Given the description of an element on the screen output the (x, y) to click on. 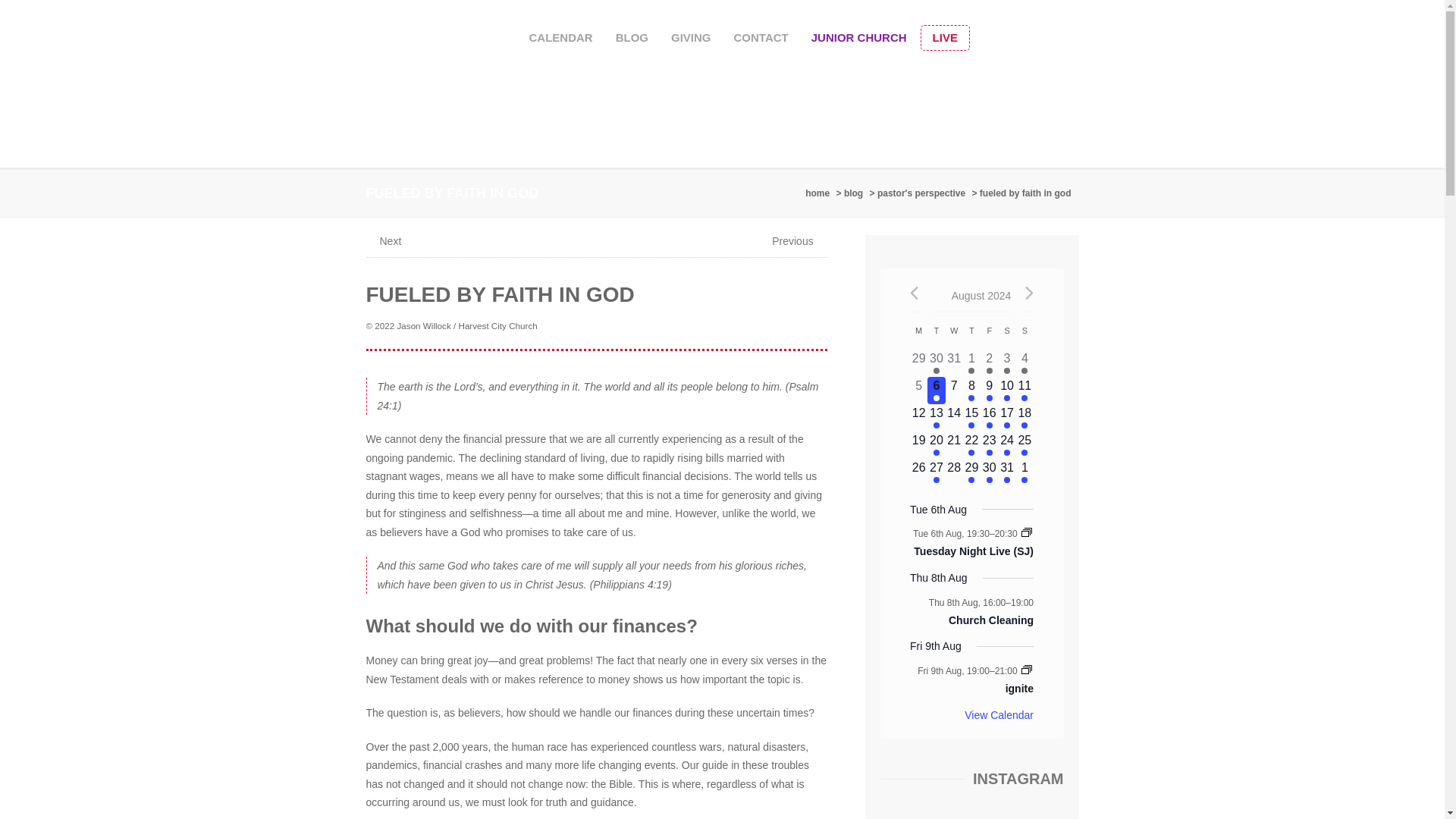
Has events (918, 361)
JUNIOR CHURCH (936, 369)
Go to Blog. (858, 37)
blog (855, 193)
CALENDAR (855, 193)
GIVING (560, 37)
Go to Harvest City Church Leicester. (690, 37)
Go to the Pastor's Perspective category archives. (953, 361)
Go to Fueled By Faith in God. (818, 193)
LIVE (935, 361)
Next month (923, 193)
home (1027, 193)
